Given the description of an element on the screen output the (x, y) to click on. 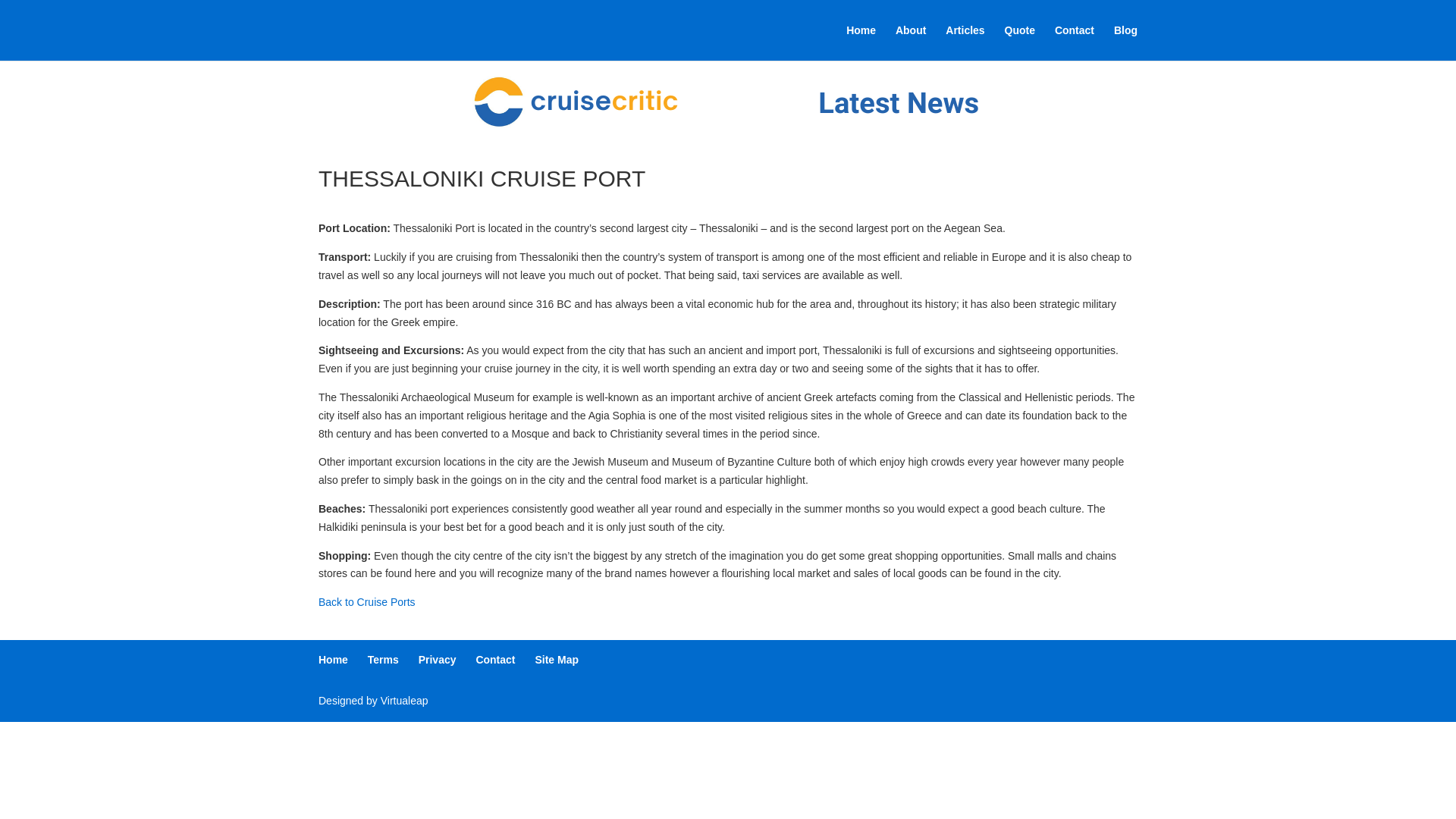
Back to Cruise Ports (366, 602)
Terms (383, 659)
Contact (495, 659)
Site Map (556, 659)
Virtualeap (404, 700)
Home (332, 659)
Contact (1074, 42)
Privacy (438, 659)
Articles (964, 42)
